Given the description of an element on the screen output the (x, y) to click on. 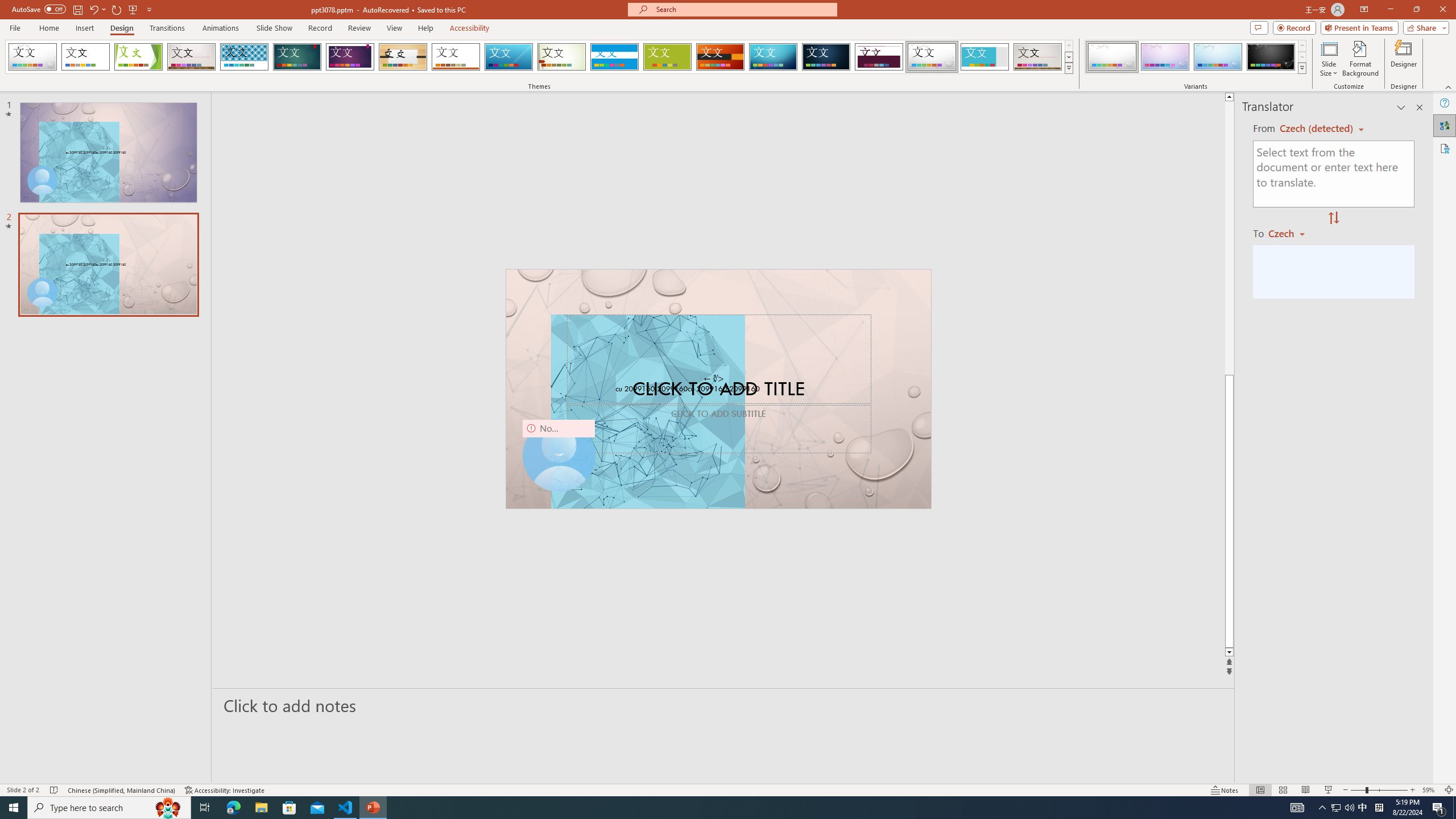
Subtitle TextBox (718, 428)
Droplet (931, 56)
Frame (984, 56)
Ion Boardroom (350, 56)
Organic (403, 56)
AutomationID: ThemeVariantsGallery (1195, 56)
Damask (826, 56)
Integral (244, 56)
